Given the description of an element on the screen output the (x, y) to click on. 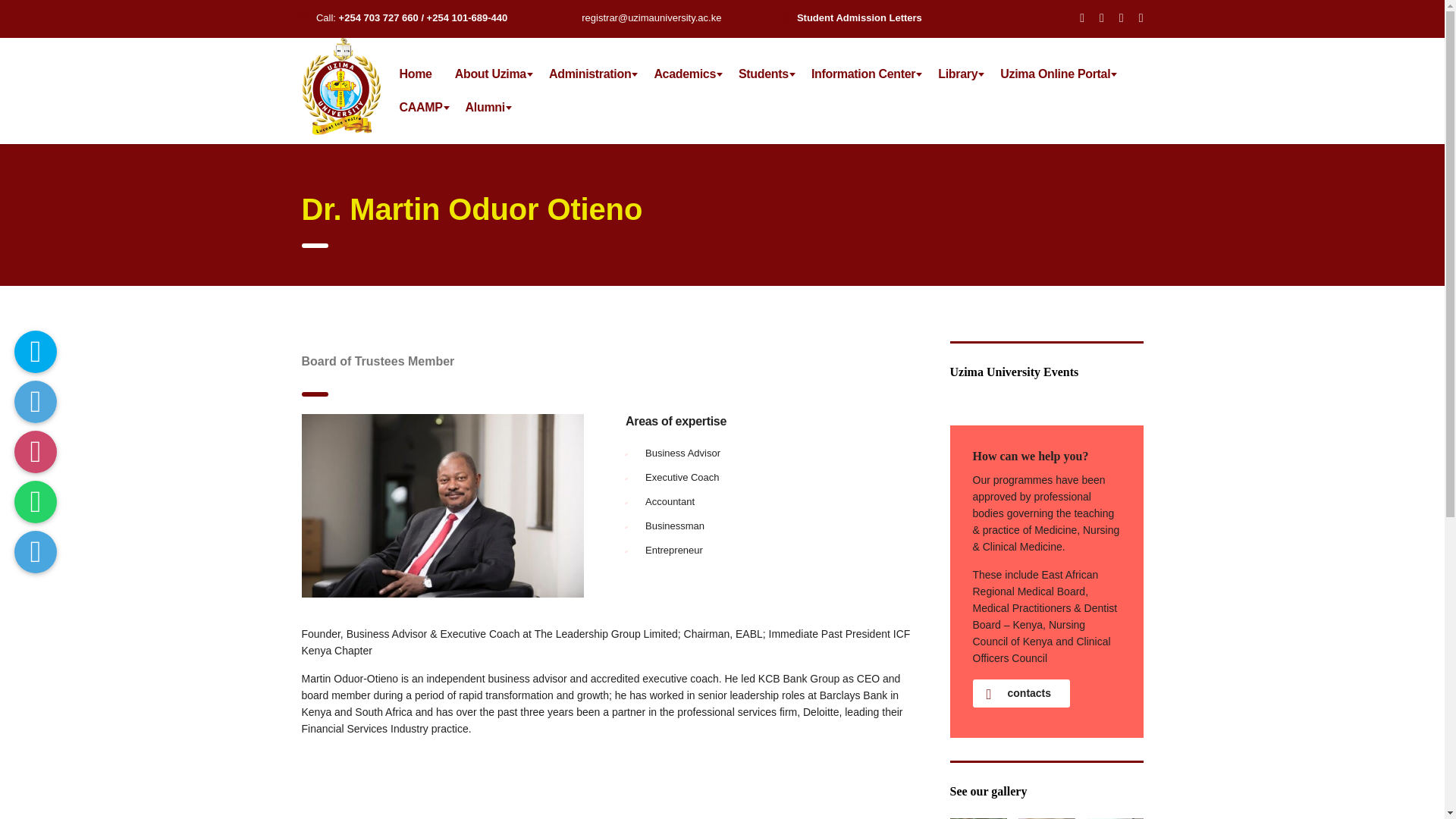
Home (416, 73)
Student Admission Letters (858, 17)
IMG-20200605-WA0061 (1045, 818)
Administration (589, 73)
About Uzima (490, 73)
